Given the description of an element on the screen output the (x, y) to click on. 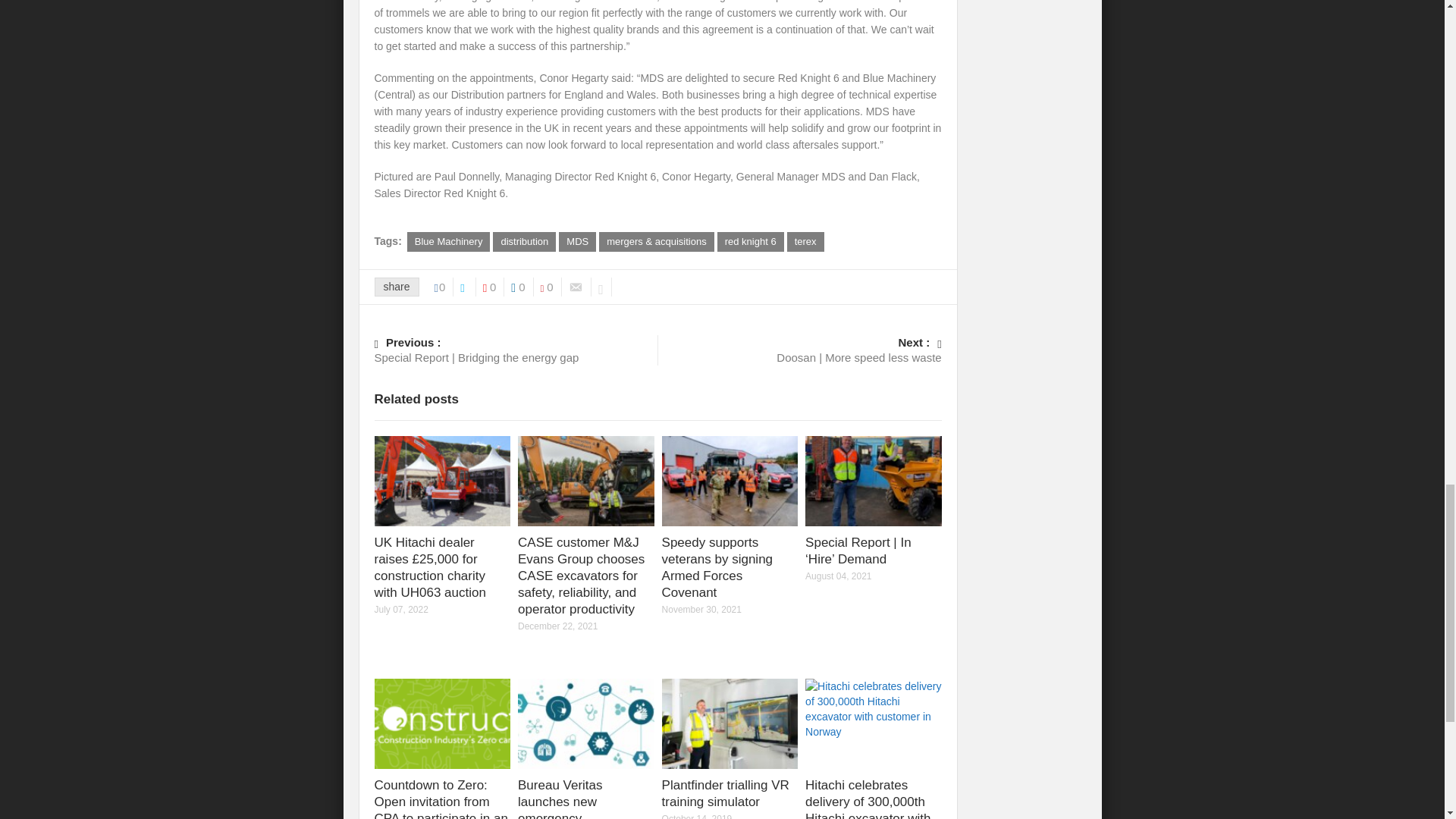
0 (443, 286)
MDS (577, 241)
Blue Machinery (448, 241)
terex (805, 241)
distribution (524, 241)
red knight 6 (750, 241)
